Given the description of an element on the screen output the (x, y) to click on. 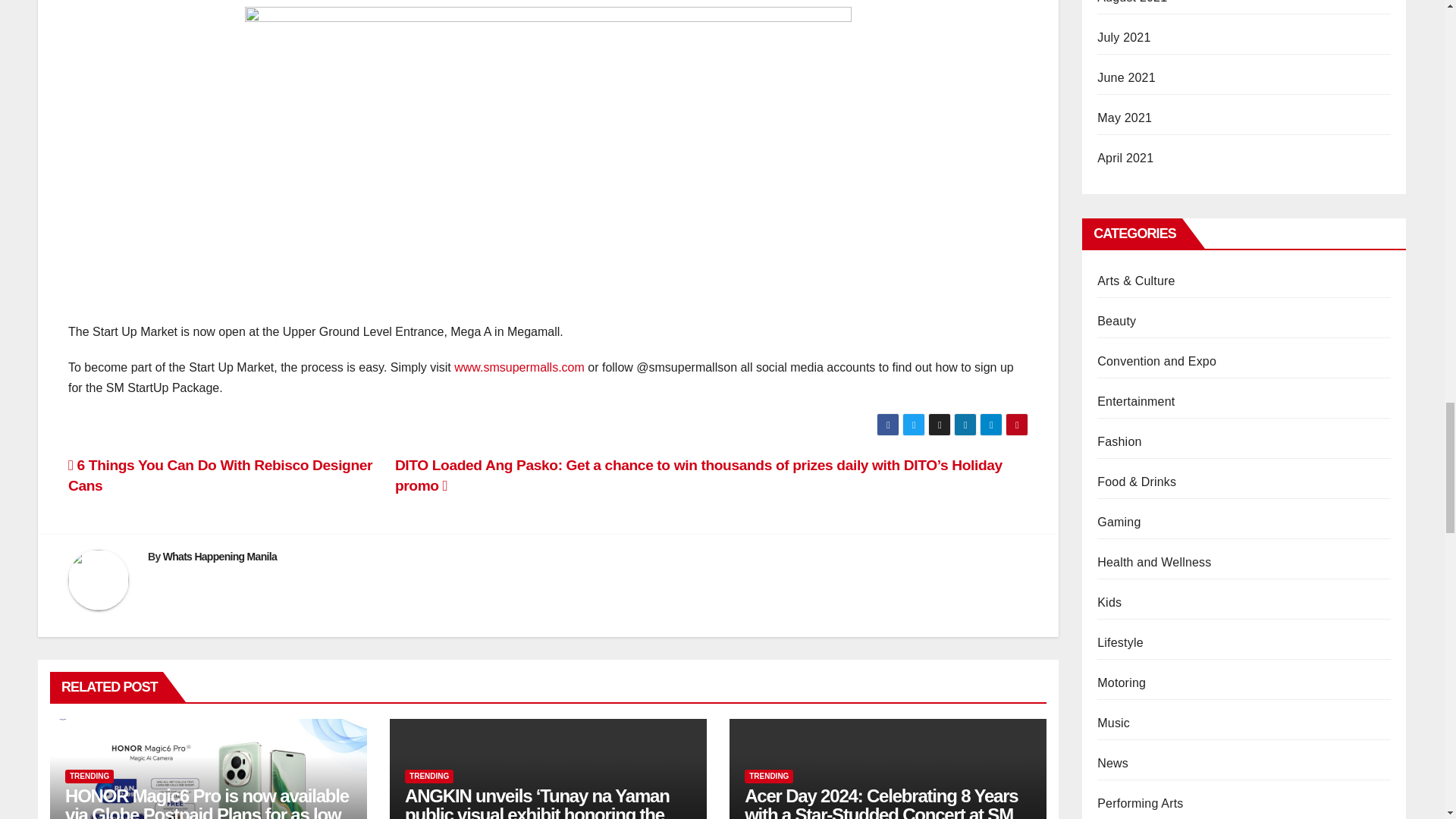
www.smsupermalls.com (519, 367)
TRENDING (428, 775)
TRENDING (768, 775)
Whats Happening Manila (219, 556)
TRENDING (89, 775)
6 Things You Can Do With Rebisco Designer Cans (220, 475)
